Given the description of an element on the screen output the (x, y) to click on. 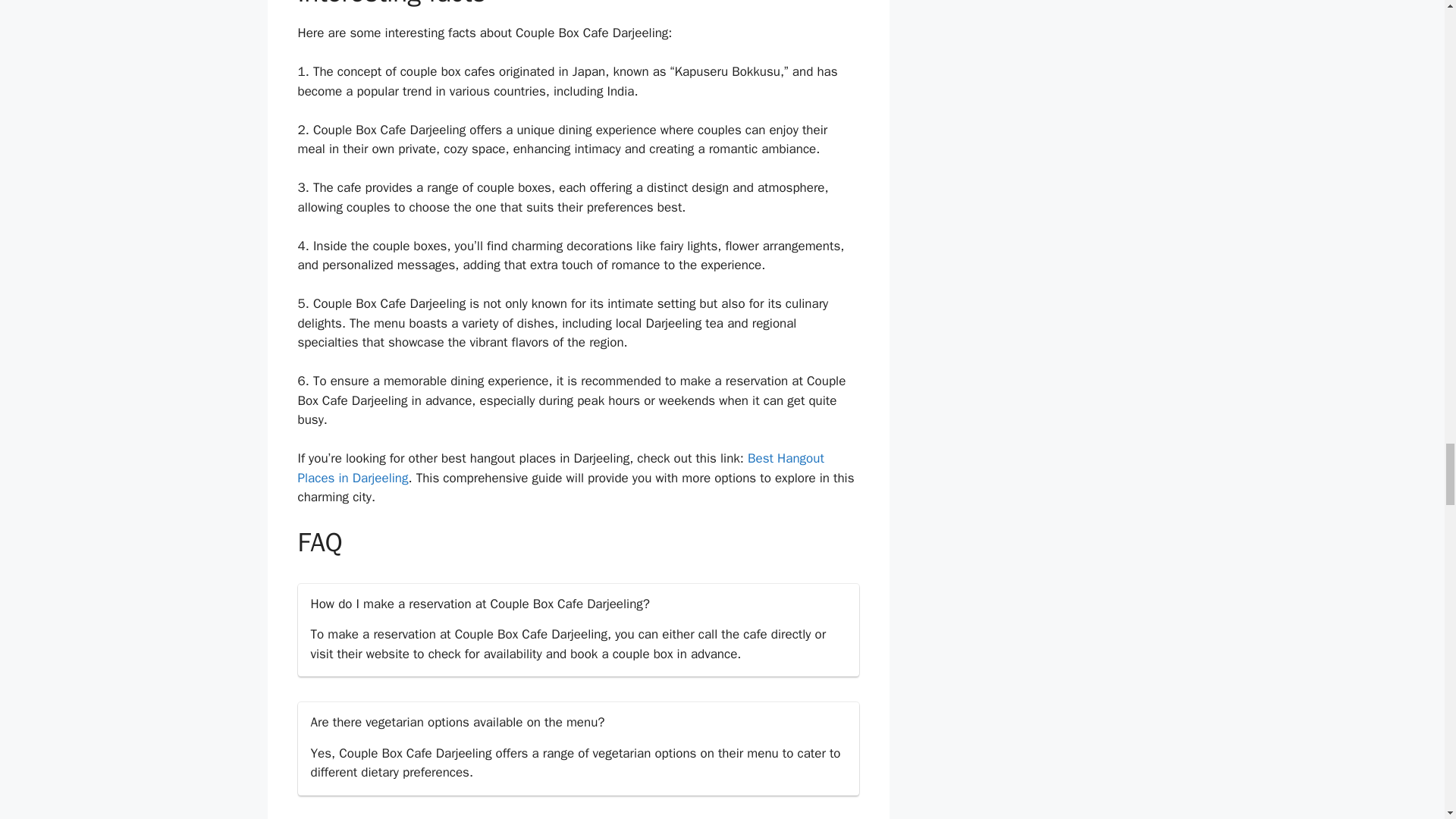
Best Hangout Places in Darjeeling (560, 468)
